Given the description of an element on the screen output the (x, y) to click on. 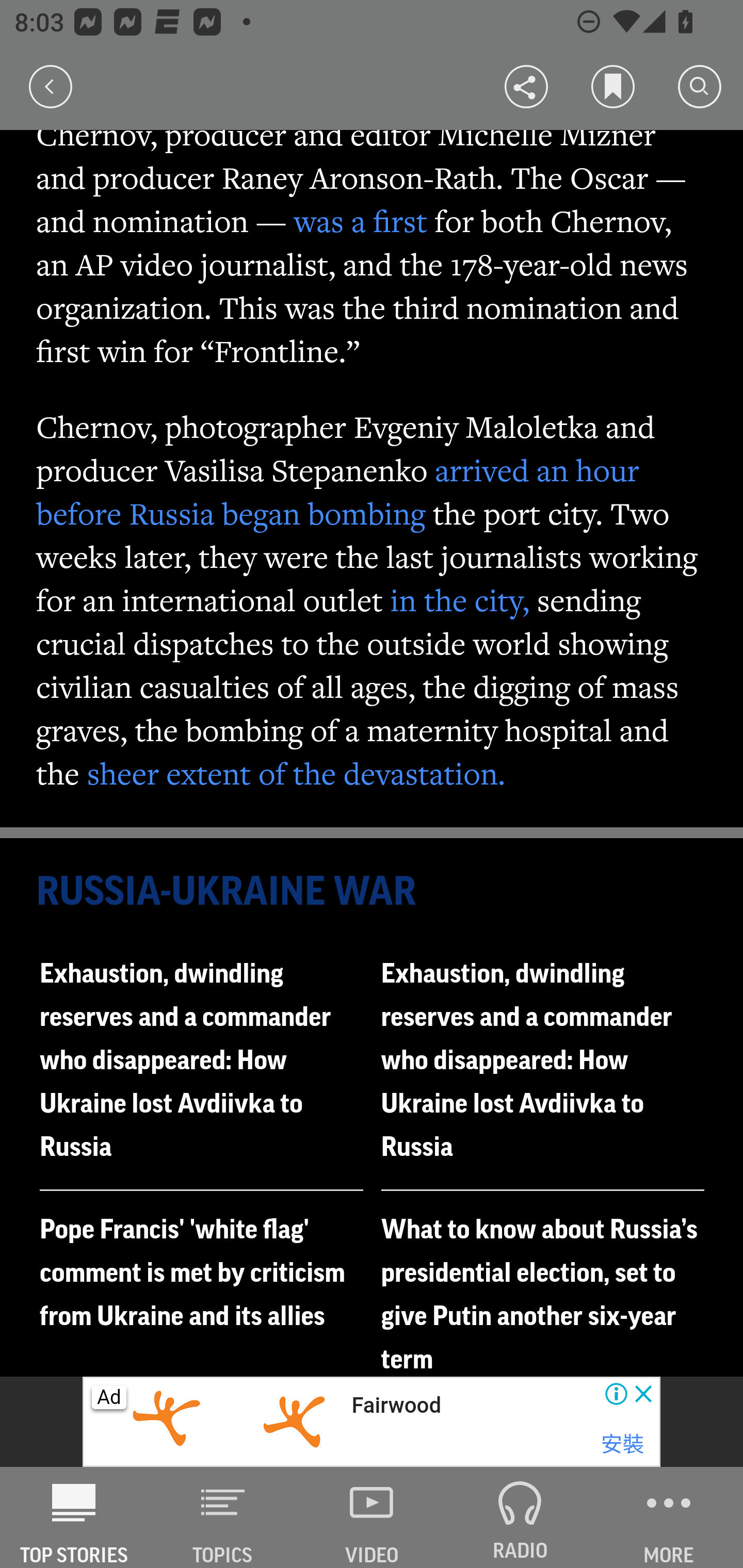
was a first (359, 221)
arrived an hour before Russia began bombing (338, 491)
in the city, (460, 599)
sheer extent of the devastation. (295, 772)
RUSSIA-UKRAINE WAR (372, 891)
Fairwood (395, 1405)
安裝 (621, 1444)
AP News TOP STORIES (74, 1517)
TOPICS (222, 1517)
VIDEO (371, 1517)
RADIO (519, 1517)
MORE (668, 1517)
